Given the description of an element on the screen output the (x, y) to click on. 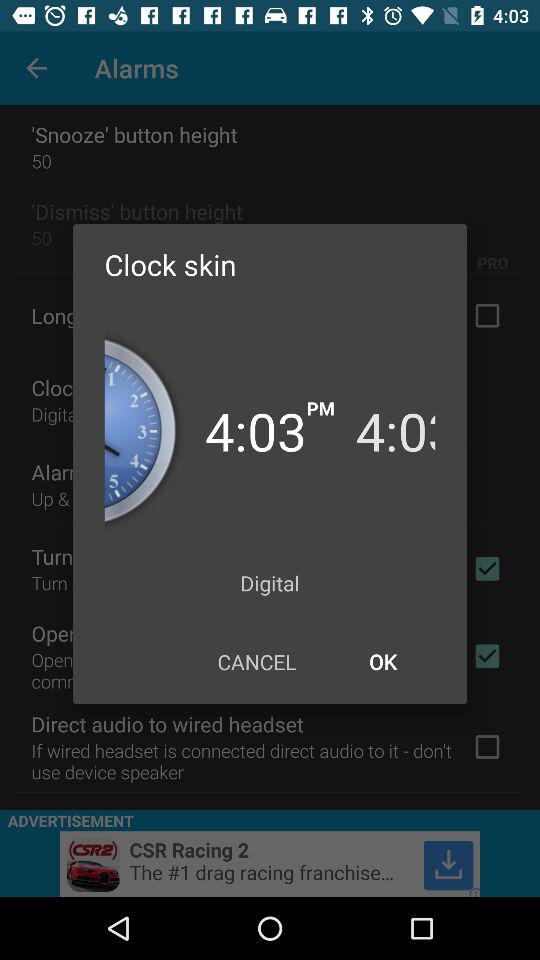
tap the icon next to the ok icon (256, 661)
